Given the description of an element on the screen output the (x, y) to click on. 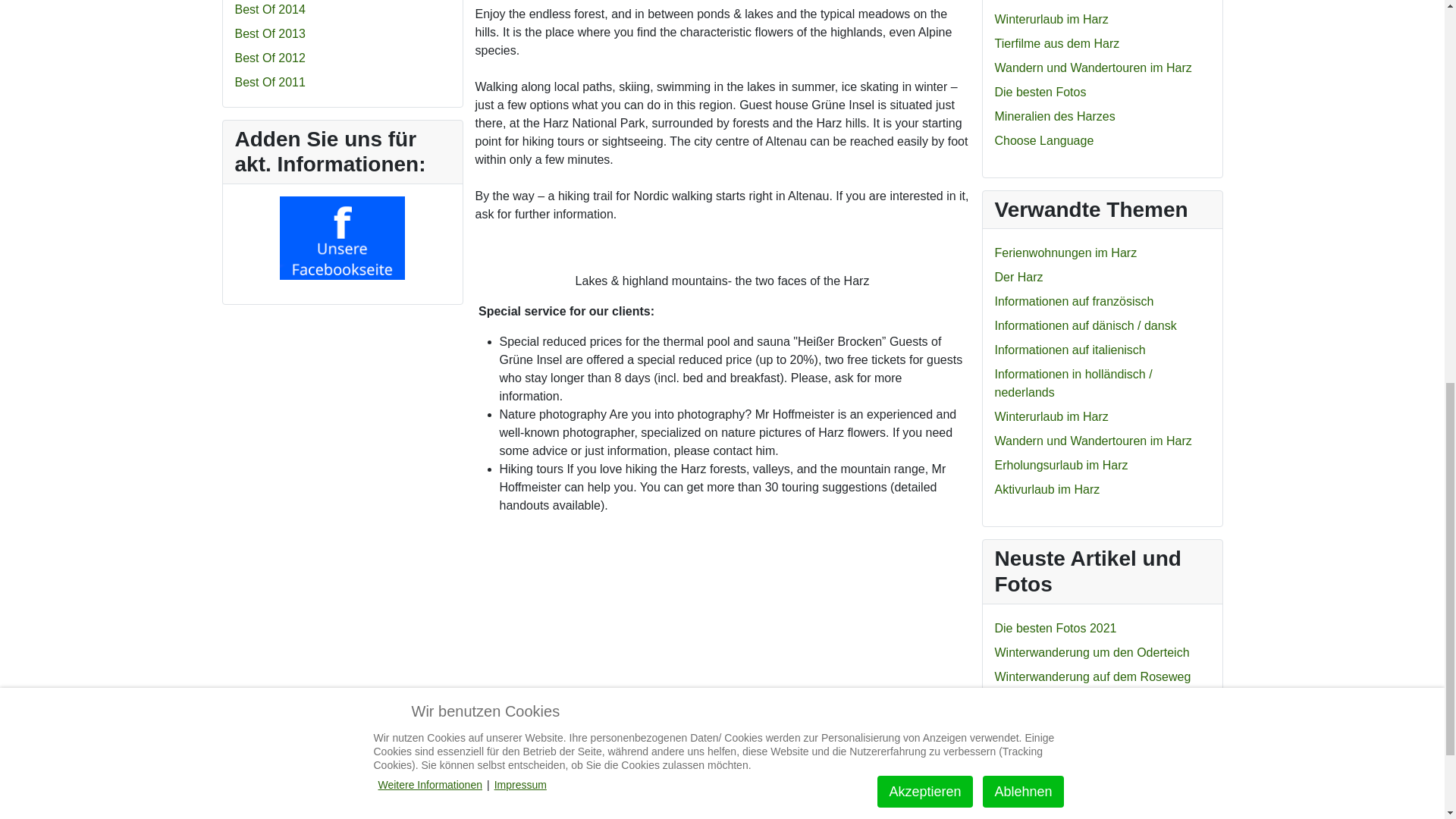
Adden Sie uns bei Facebook (341, 238)
